Given the description of an element on the screen output the (x, y) to click on. 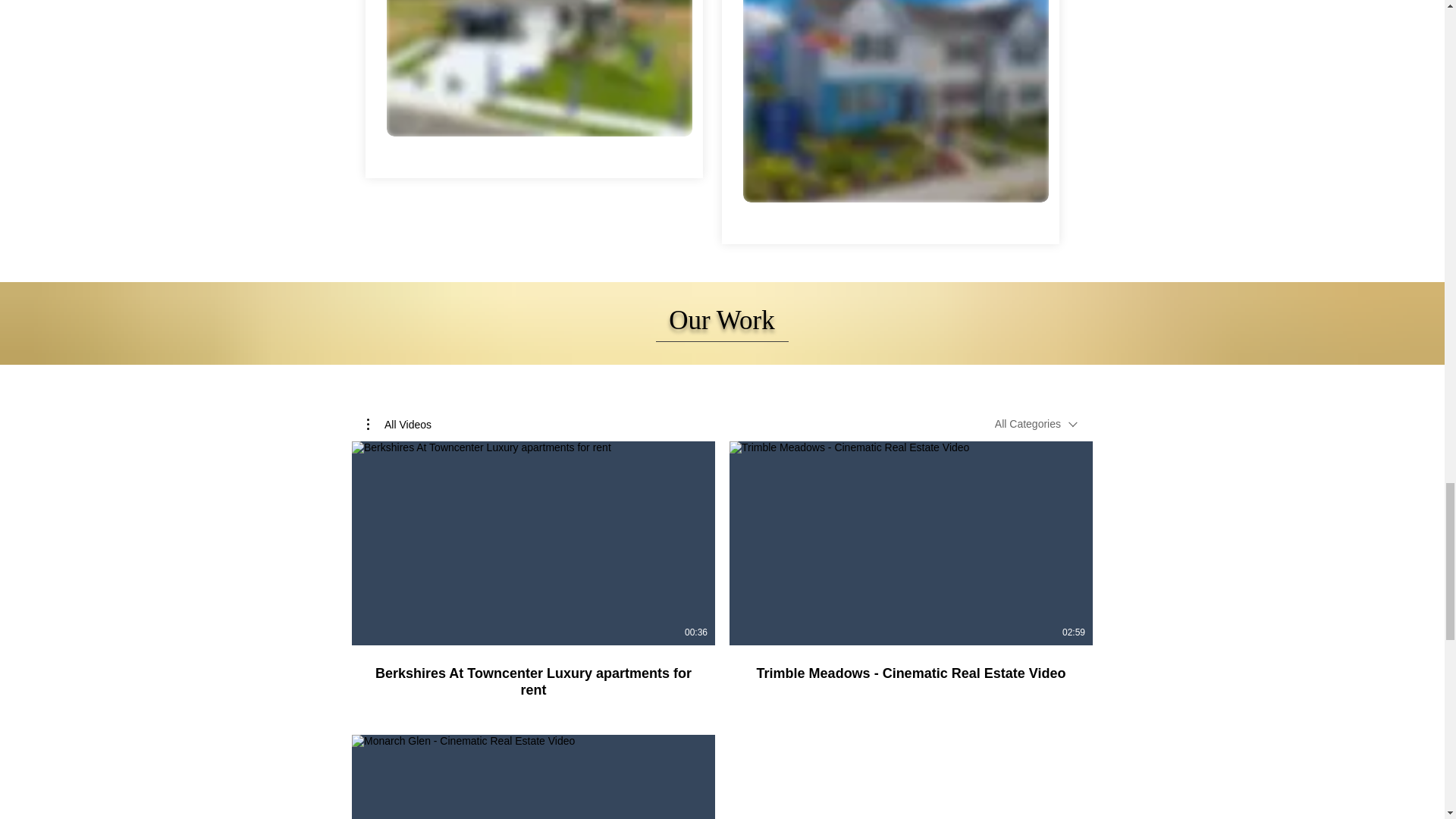
Berkshires At Towncenter Luxury apartments for rent (533, 681)
Berkshires At Towncenter Luxury apartments for rent (533, 672)
Trimble Meadows - Cinematic Real Estate Video (911, 664)
Trimble Meadows - Cinematic Real Estate Video (910, 673)
